Given the description of an element on the screen output the (x, y) to click on. 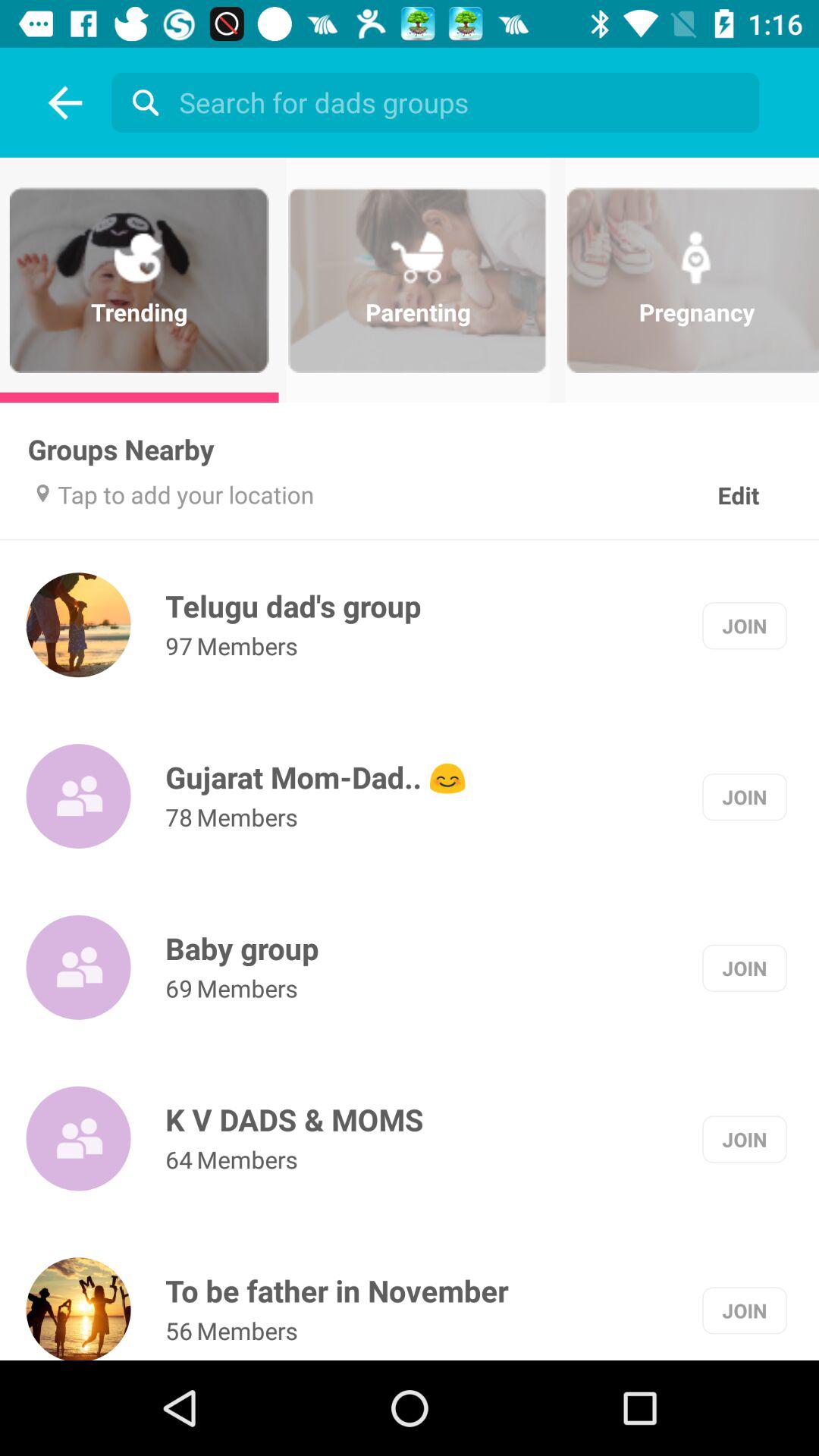
scroll until edit item (738, 479)
